Given the description of an element on the screen output the (x, y) to click on. 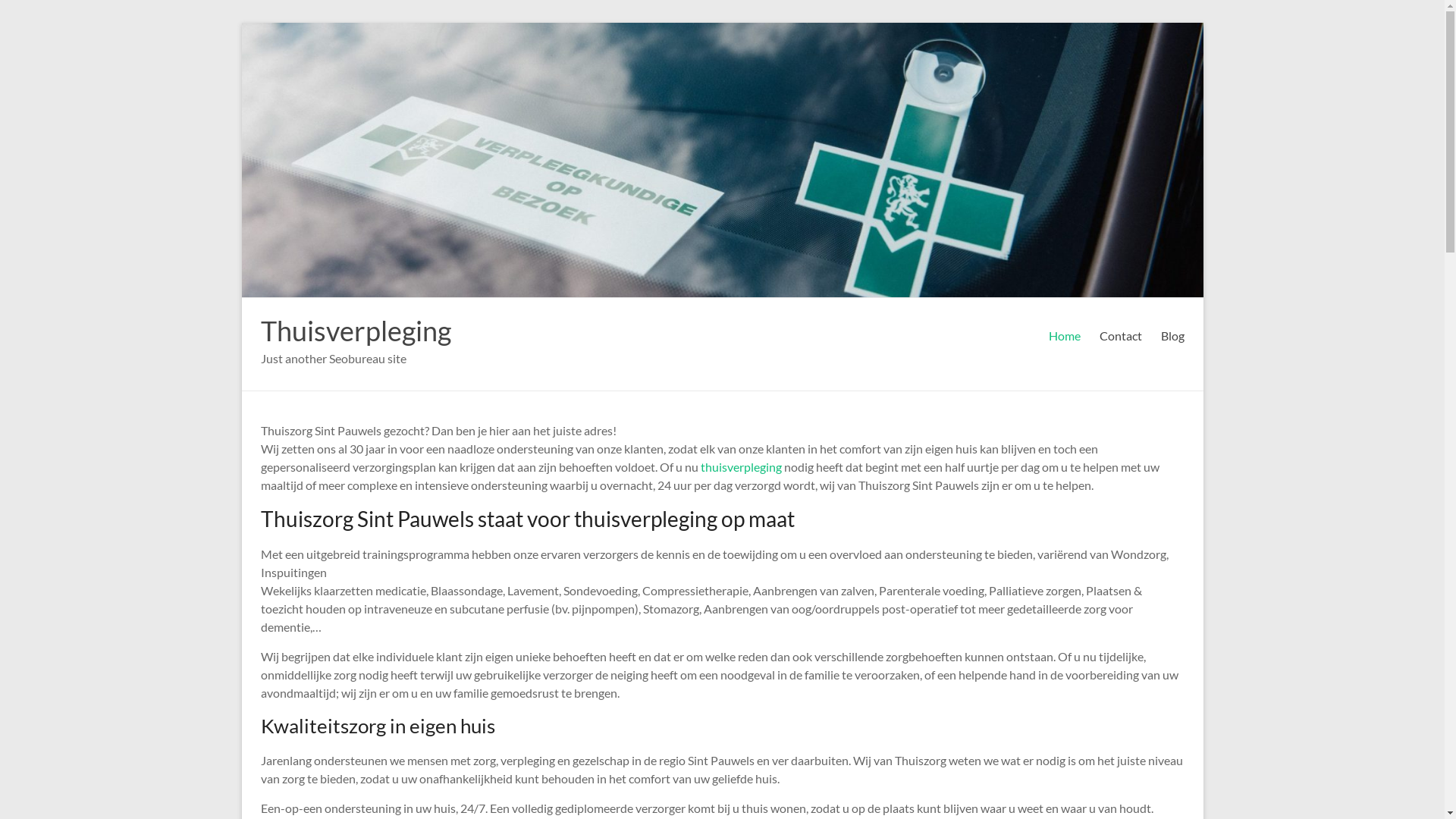
Thuisverpleging Element type: text (355, 330)
thuisverpleging Element type: text (740, 466)
Home Element type: text (1063, 335)
Blog Element type: text (1171, 335)
Ga naar inhoud Element type: text (241, 21)
Contact Element type: text (1120, 335)
